Given the description of an element on the screen output the (x, y) to click on. 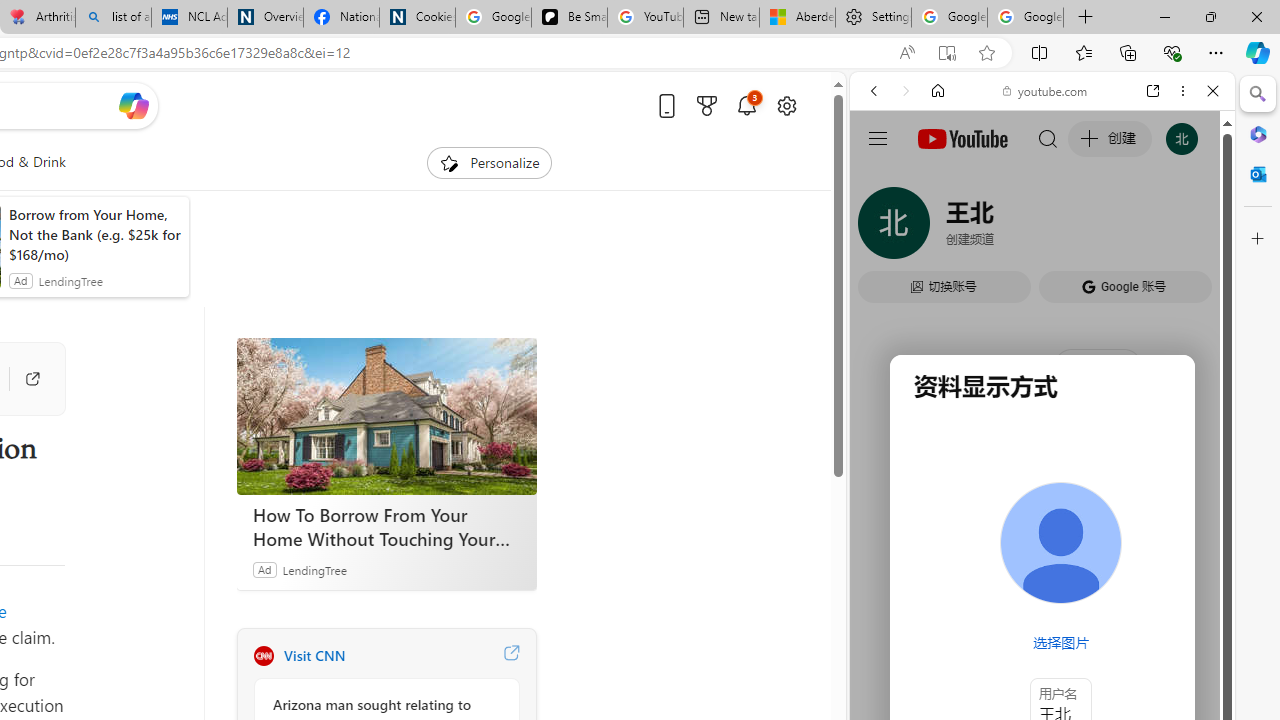
Trailer #2 [HD] (1042, 594)
Go to publisher's site (22, 378)
Visit CNN website (511, 655)
